Given the description of an element on the screen output the (x, y) to click on. 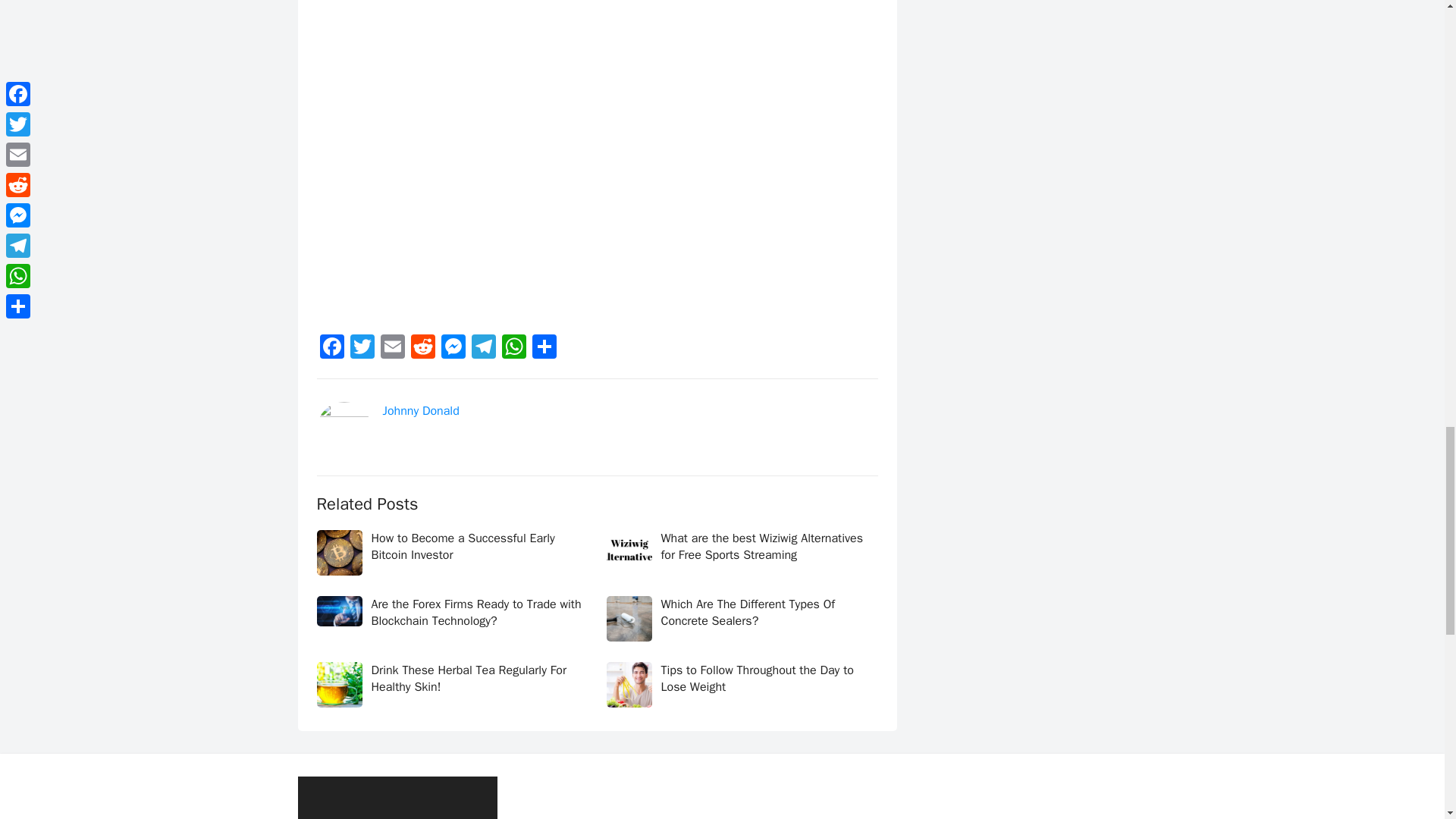
Messenger (453, 348)
Email (392, 348)
Facebook (332, 348)
Twitter (362, 348)
Drink These Herbal Tea Regularly For Healthy Skin! (469, 678)
Email (392, 348)
Which Are The Different Types Of Concrete Sealers?  (747, 612)
Twitter (362, 348)
Reddit (422, 348)
Facebook (332, 348)
WhatsApp (514, 348)
Reddit (422, 348)
